Given the description of an element on the screen output the (x, y) to click on. 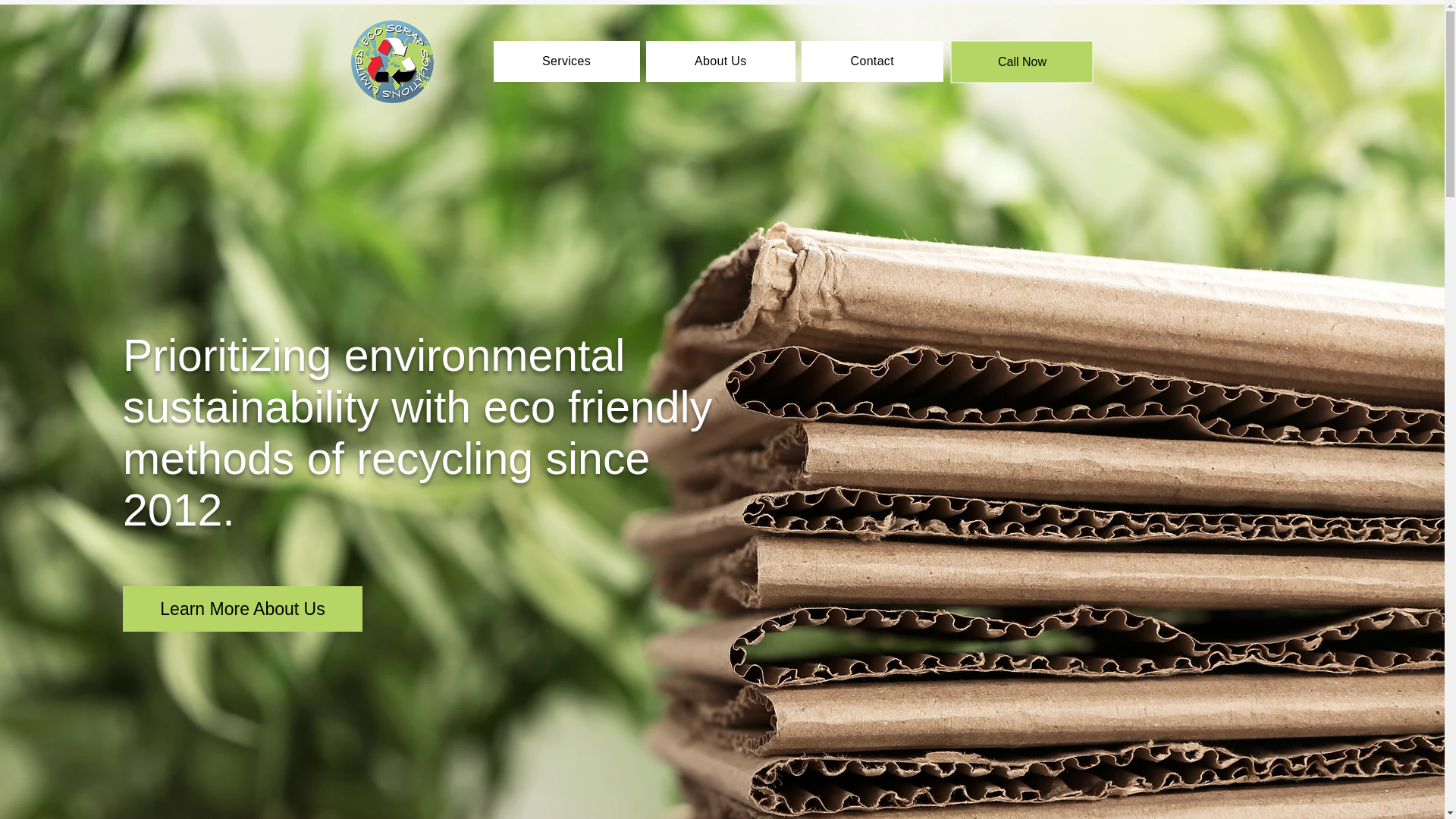
About Us (720, 60)
Call Now (1021, 61)
Services (566, 60)
Learn More About Us (242, 608)
Contact (872, 60)
